Given the description of an element on the screen output the (x, y) to click on. 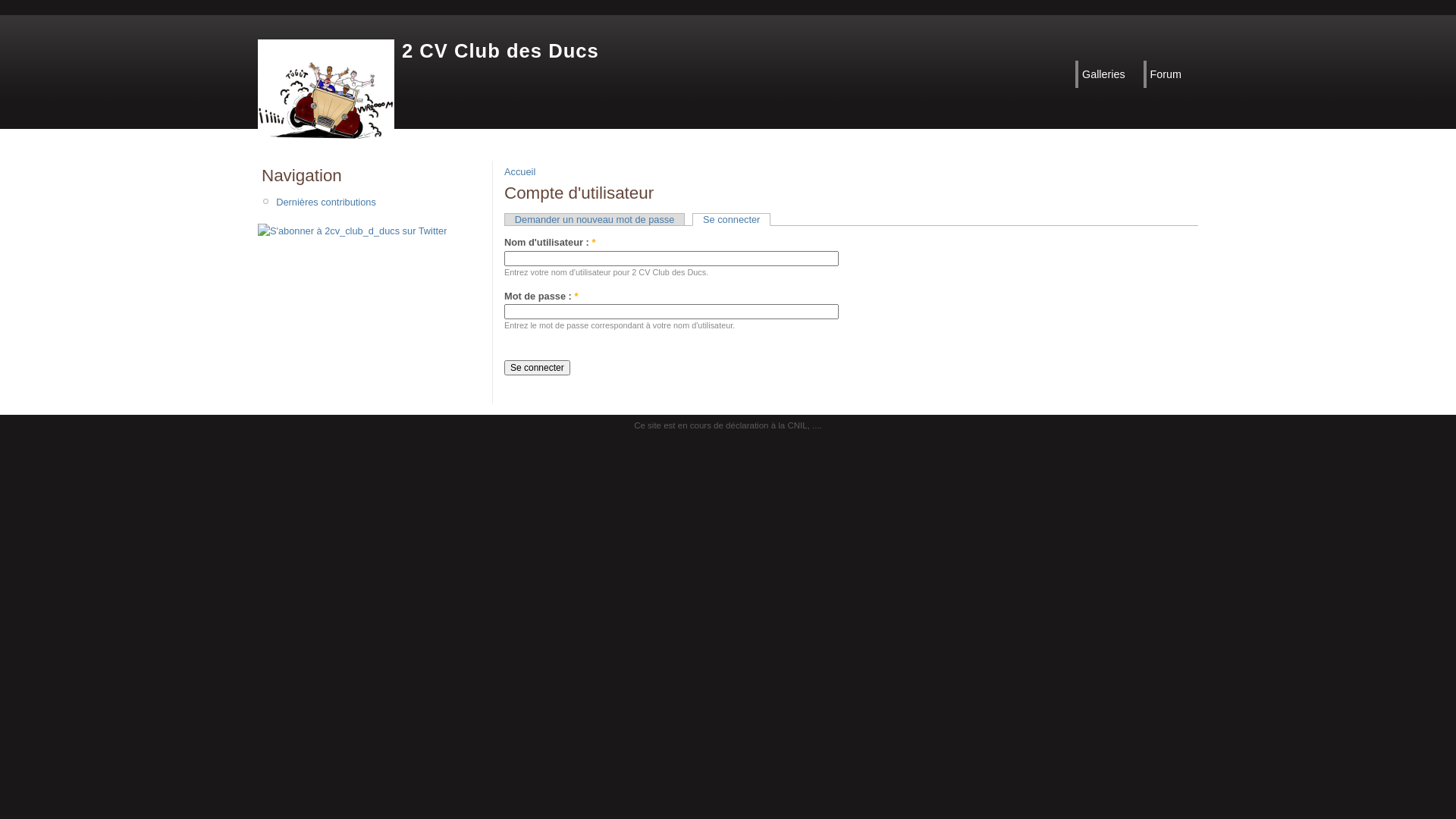
2 CV Club des Ducs Element type: text (500, 50)
Se connecter Element type: text (537, 367)
Galleries Element type: text (1107, 73)
Demander un nouveau mot de passe Element type: text (594, 219)
Forum Element type: text (1169, 73)
Accueil Element type: text (519, 171)
Se connecter Element type: text (731, 219)
